Given the description of an element on the screen output the (x, y) to click on. 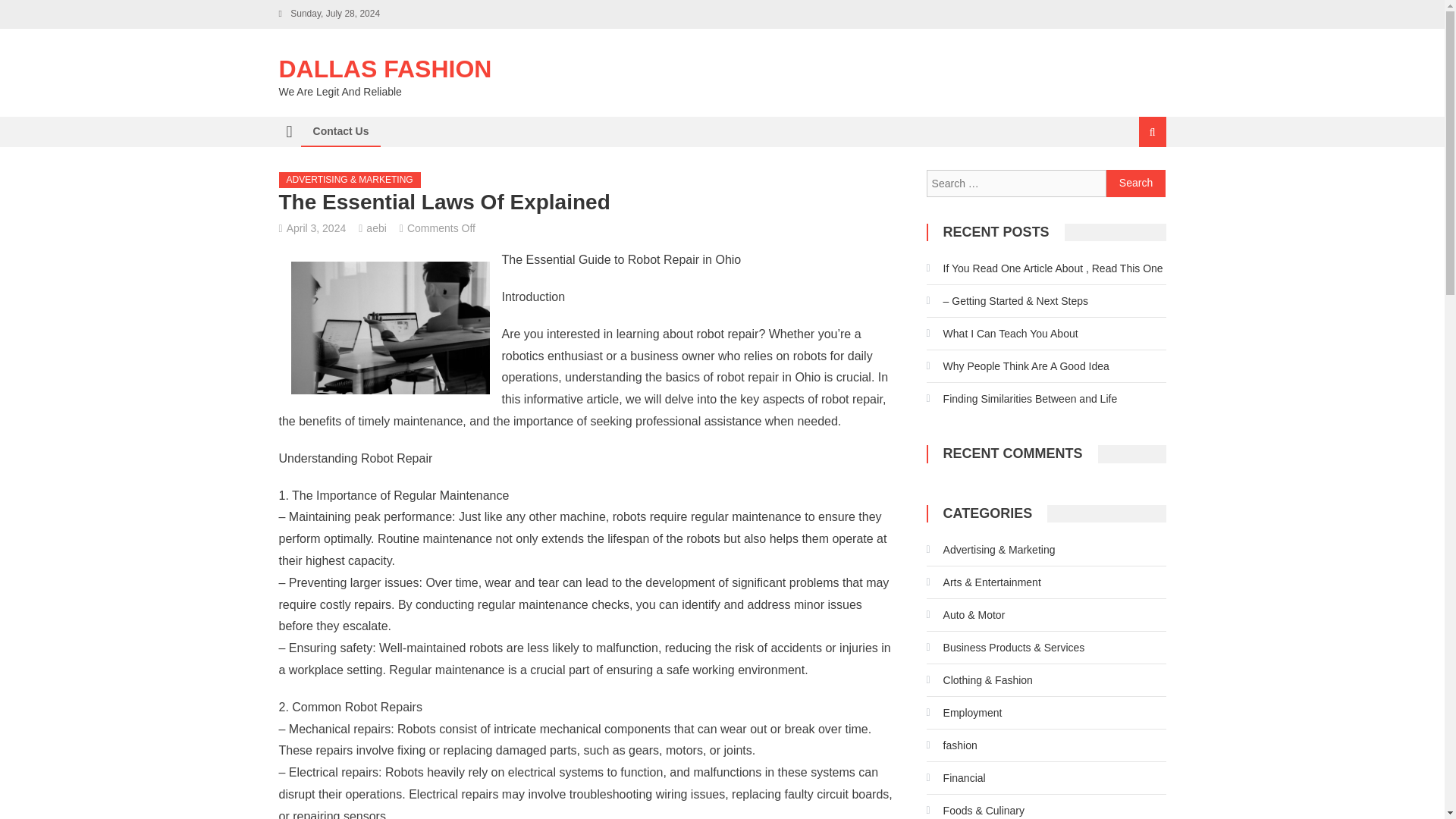
Search (1133, 182)
If You Read One Article About , Read This One (1044, 268)
Search (1136, 183)
Search (1136, 183)
What I Can Teach You About (1002, 333)
April 3, 2024 (316, 227)
aebi (375, 227)
Why People Think Are A Good Idea (1017, 365)
DALLAS FASHION (385, 68)
Finding Similarities Between and Life (1022, 398)
Contact Us (340, 131)
Search (1136, 183)
